Given the description of an element on the screen output the (x, y) to click on. 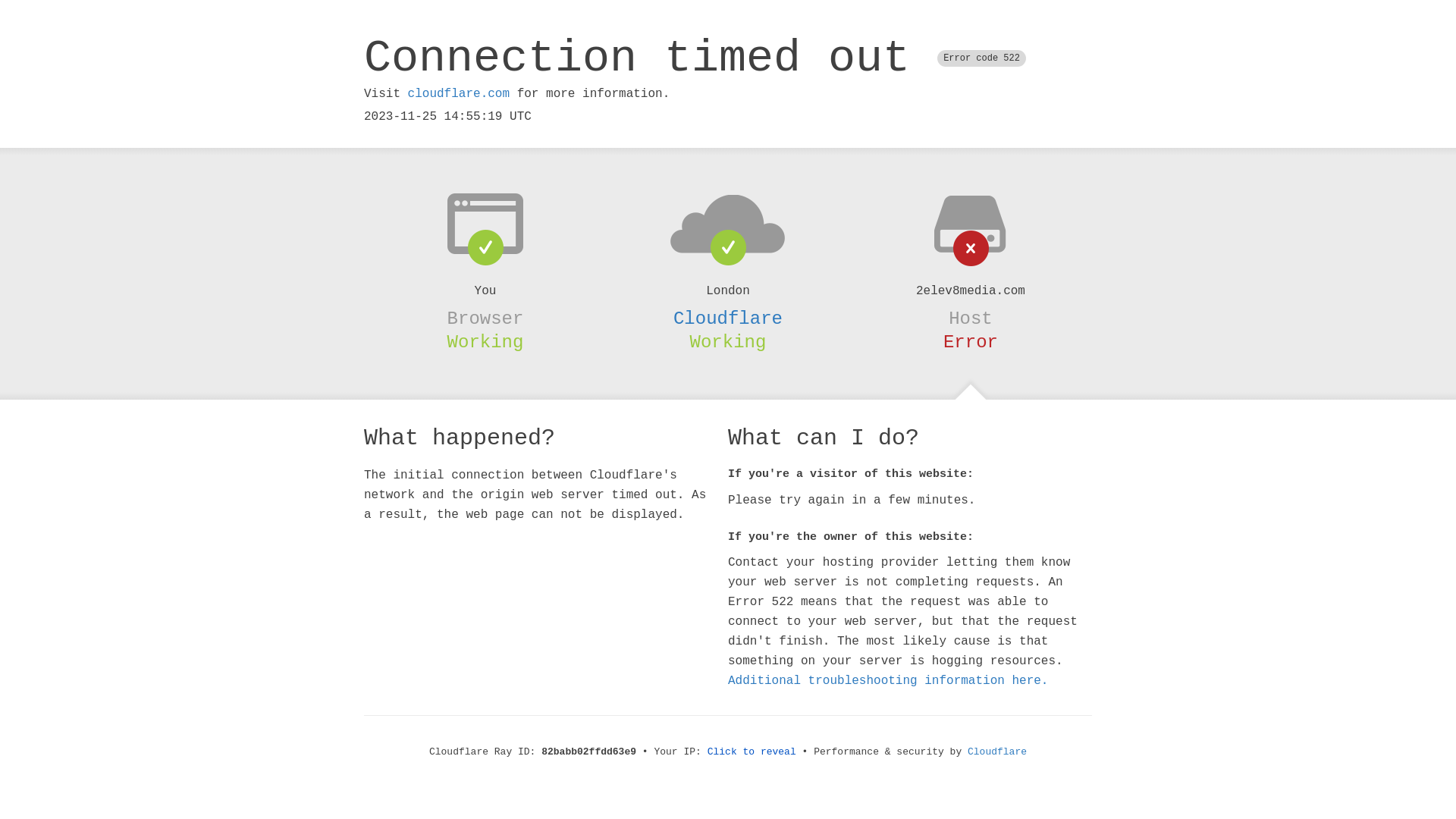
Cloudflare Element type: text (996, 751)
Cloudflare Element type: text (727, 318)
Additional troubleshooting information here. Element type: text (888, 680)
Click to reveal Element type: text (751, 751)
cloudflare.com Element type: text (458, 93)
